Given the description of an element on the screen output the (x, y) to click on. 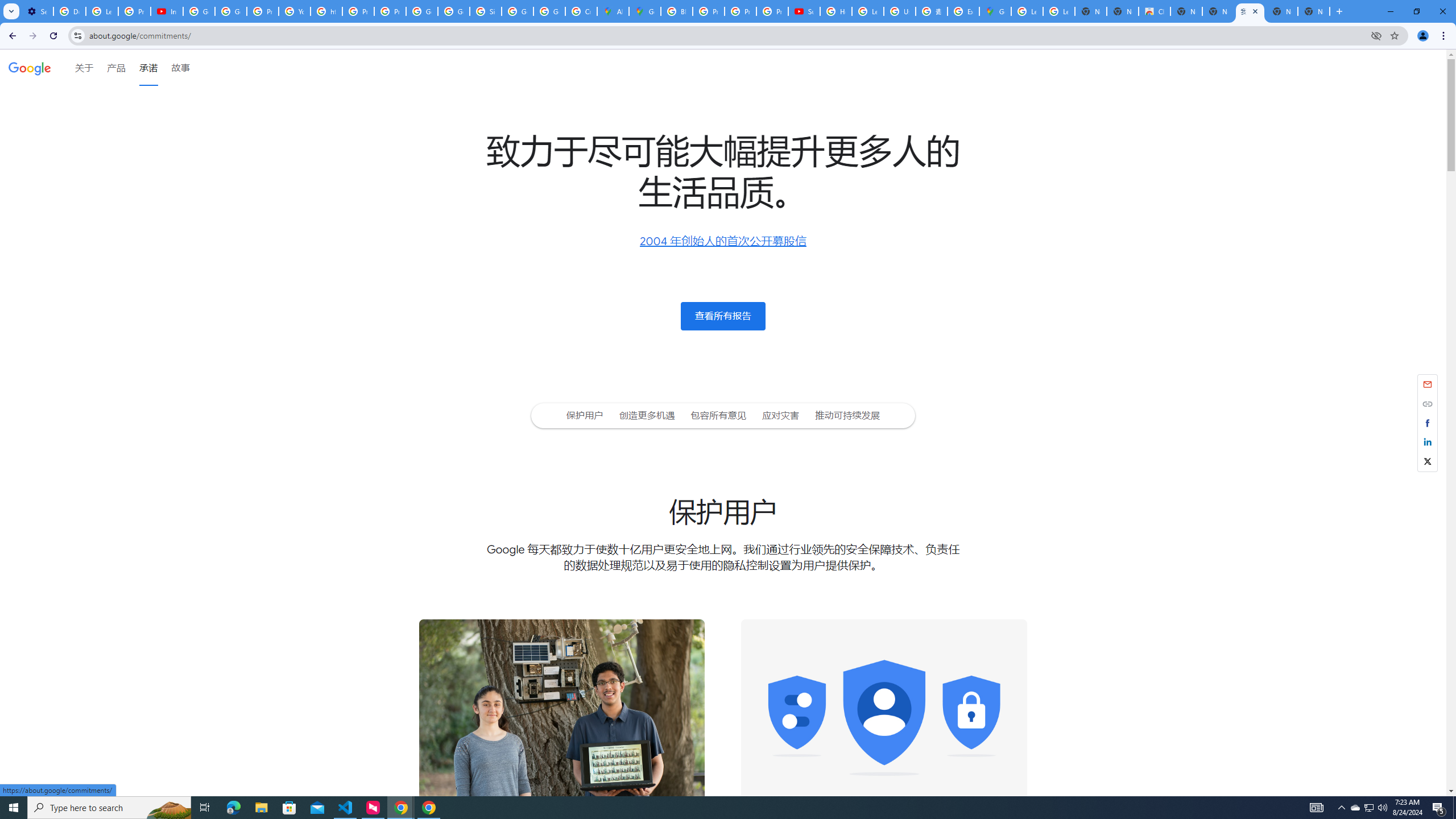
Google Maps (644, 11)
Sign in - Google Accounts (485, 11)
Privacy Help Center - Policies Help (262, 11)
Delete photos & videos - Computer - Google Photos Help (69, 11)
Google Maps (995, 11)
